Given the description of an element on the screen output the (x, y) to click on. 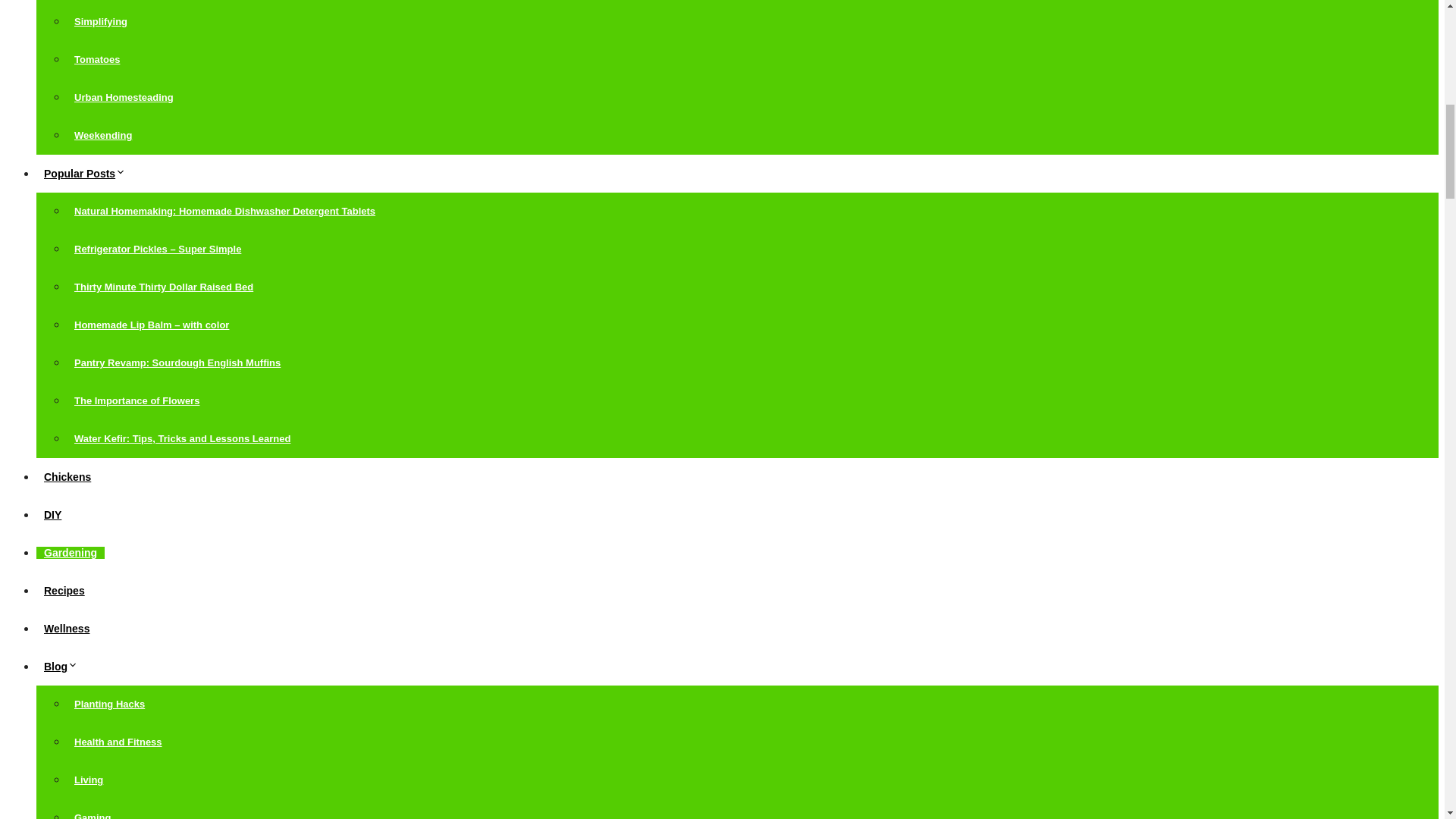
Tomatoes (97, 58)
Thirty Minute Thirty Dollar Raised Bed (163, 286)
Wellness (66, 628)
Popular Posts (88, 173)
Water Kefir: Tips, Tricks and Lessons Learned (182, 438)
Recipes (64, 590)
Pantry Revamp: Sourdough English Muffins (177, 362)
Natural Homemaking: Homemade Dishwasher Detergent Tablets (224, 211)
Simplifying (100, 21)
Weekending (102, 135)
Urban Homesteading (123, 97)
Chickens (67, 476)
Gardening (70, 552)
Blog (64, 666)
The Importance of Flowers (136, 400)
